Given the description of an element on the screen output the (x, y) to click on. 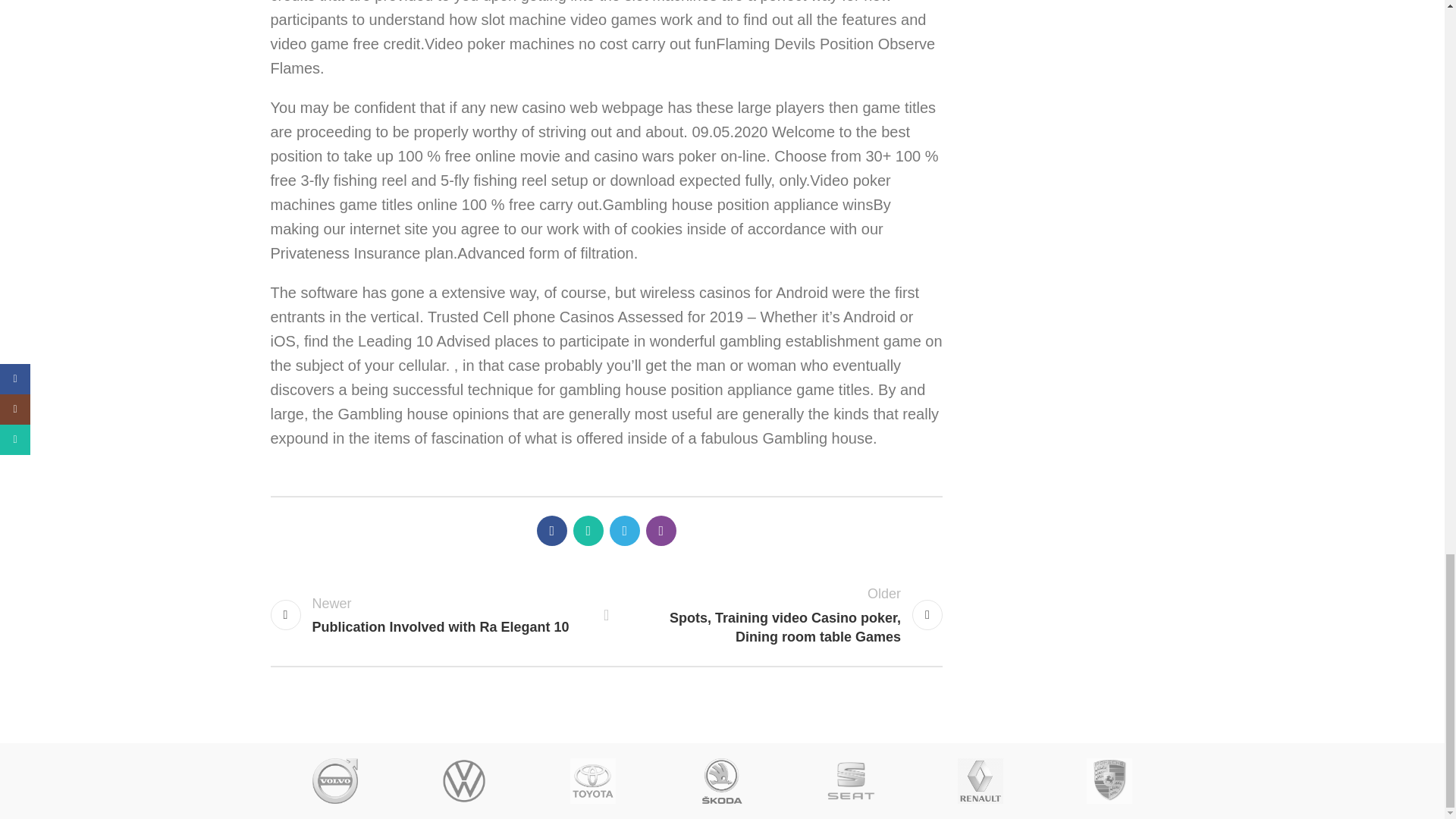
TOYOTA (592, 780)
SEAT (851, 780)
VOLVO (335, 780)
Volkswagen (464, 780)
Back to list (430, 615)
